Given the description of an element on the screen output the (x, y) to click on. 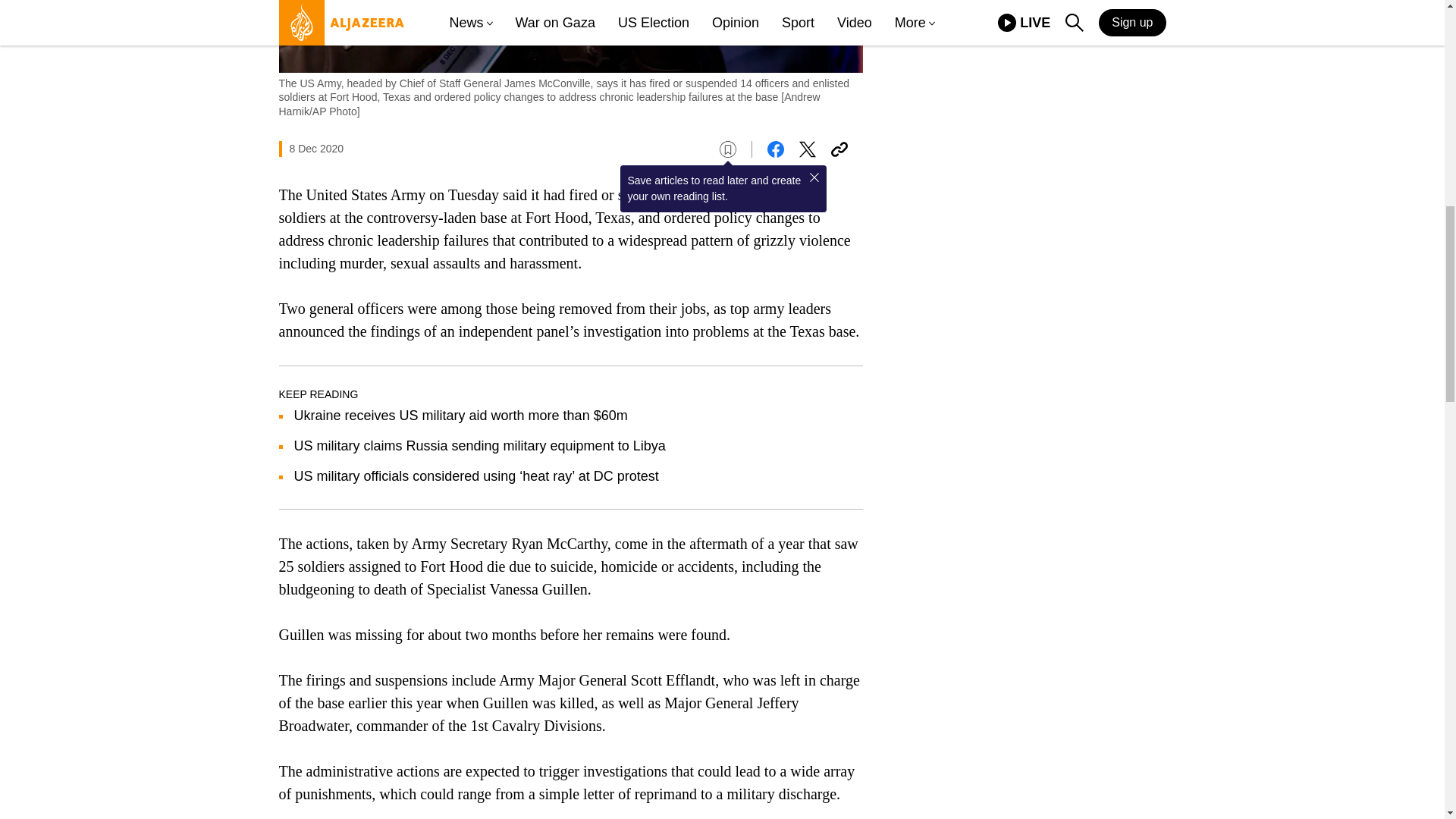
facebook (775, 149)
facebook (775, 149)
Close Tooltip (814, 177)
copylink (839, 149)
copylink (839, 149)
twitter (807, 149)
twitter (807, 149)
